Given the description of an element on the screen output the (x, y) to click on. 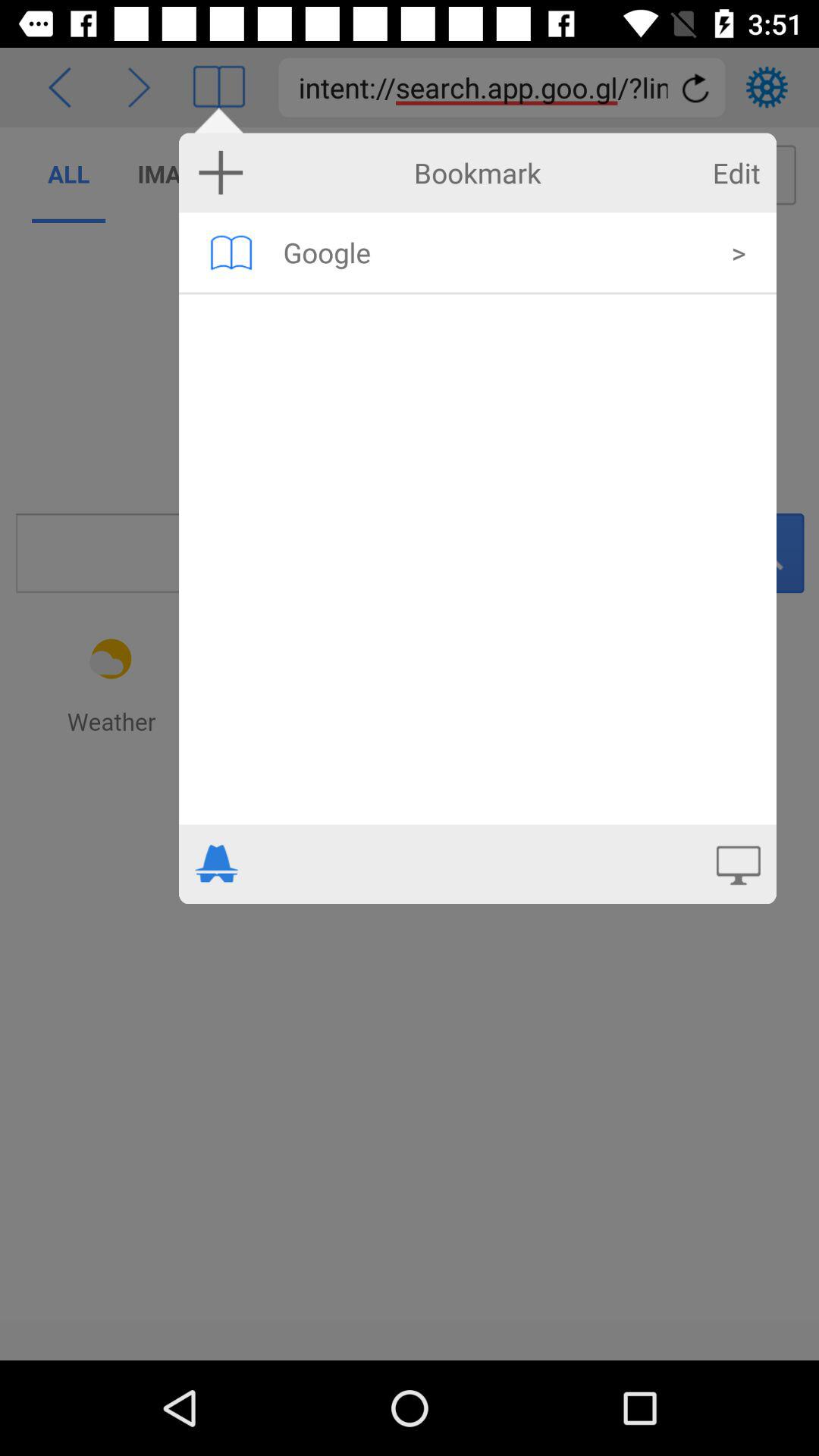
launch item to the right of bookmark item (736, 172)
